Given the description of an element on the screen output the (x, y) to click on. 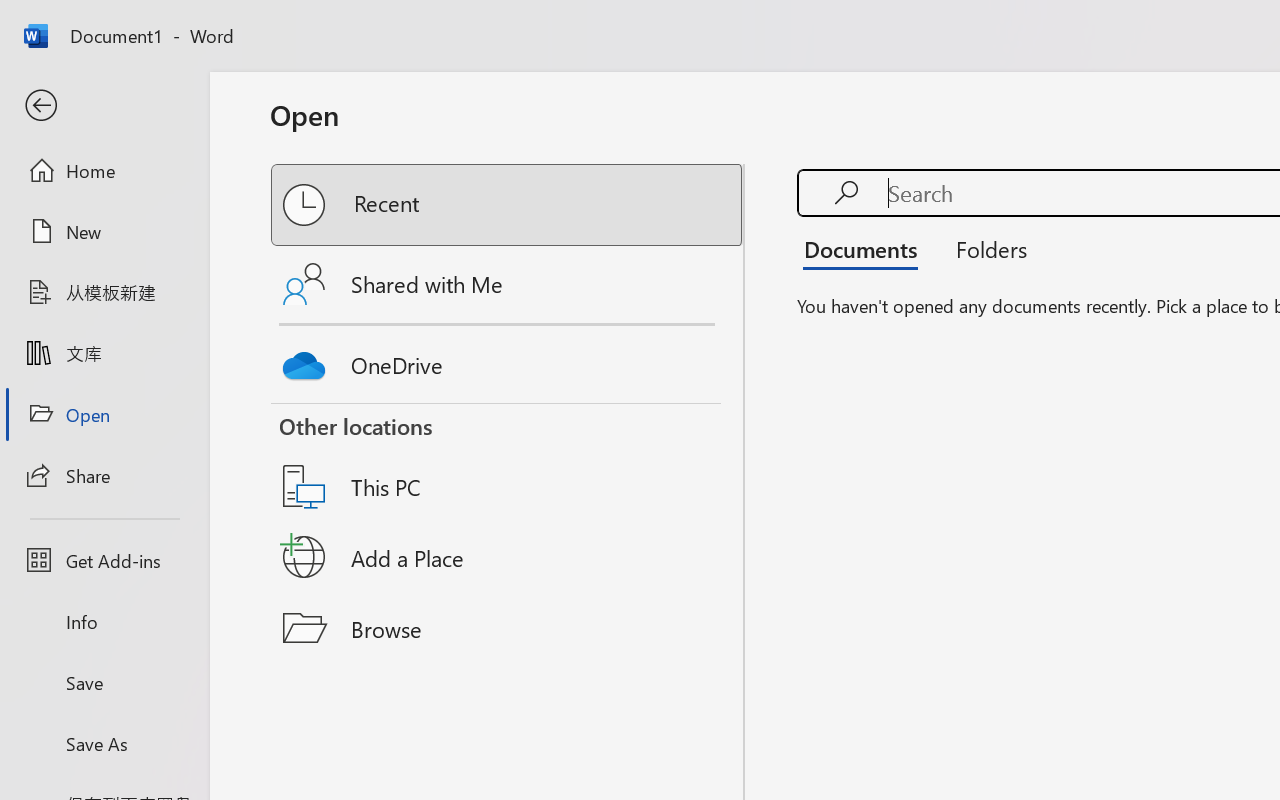
Get Add-ins (104, 560)
Browse (507, 627)
Info (104, 621)
Recent (507, 205)
Folders (984, 248)
Shared with Me (507, 283)
This PC (507, 461)
Documents (866, 248)
Back (104, 106)
New (104, 231)
Add a Place (507, 557)
